Given the description of an element on the screen output the (x, y) to click on. 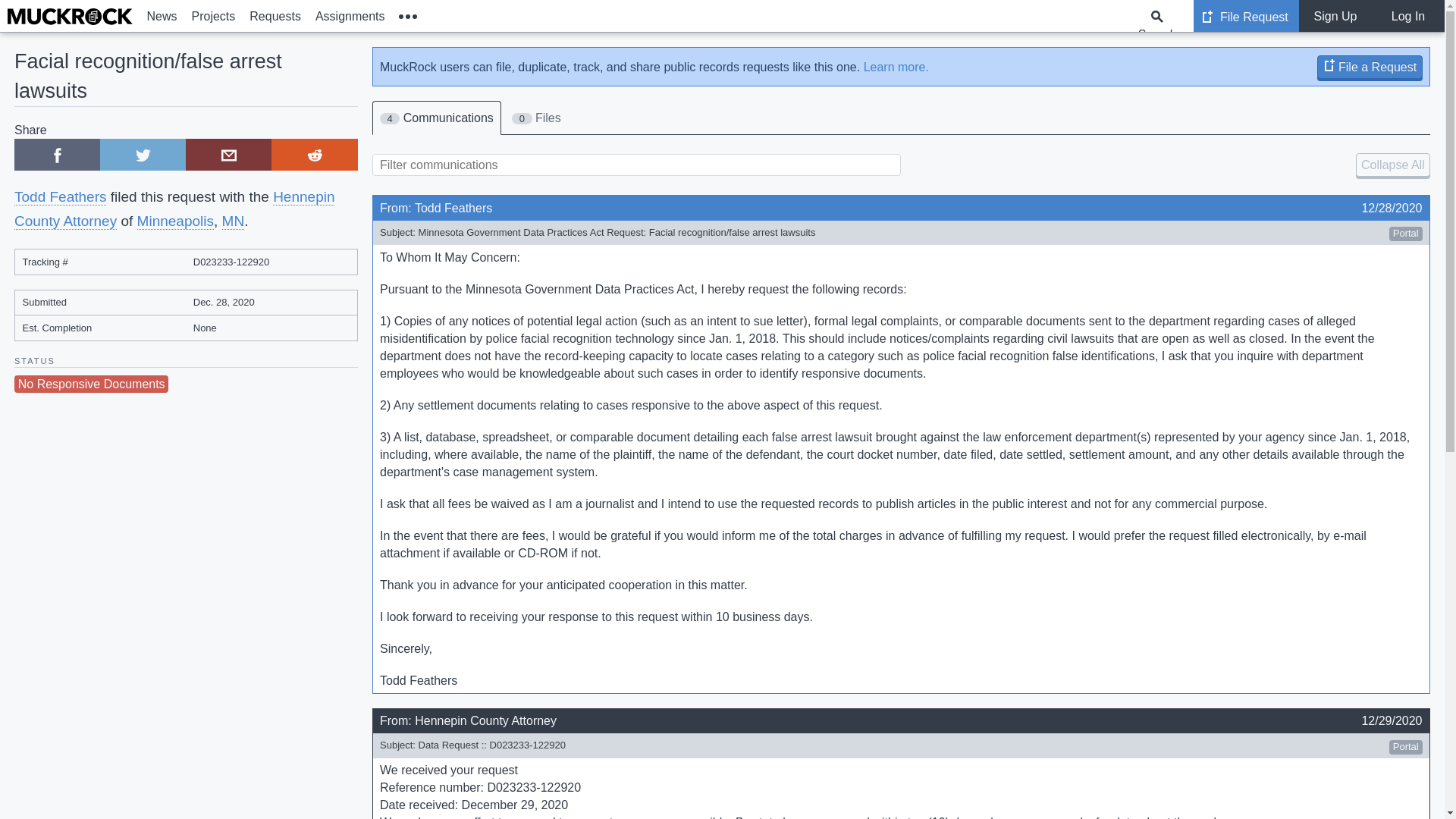
Minneapolis (175, 221)
Create Request (1206, 16)
News (161, 15)
"Minnesota" (233, 221)
MuckRock Logotype A boldfaced logotype that spells MuckRock. (69, 16)
Sign Up (1334, 15)
Requests (275, 15)
MN (233, 221)
0 Files (536, 117)
Assignments (349, 15)
Create Request (1329, 64)
Projects (213, 15)
Hennepin County Attorney (174, 209)
Collapse All (1392, 164)
Todd Feathers (60, 197)
